Given the description of an element on the screen output the (x, y) to click on. 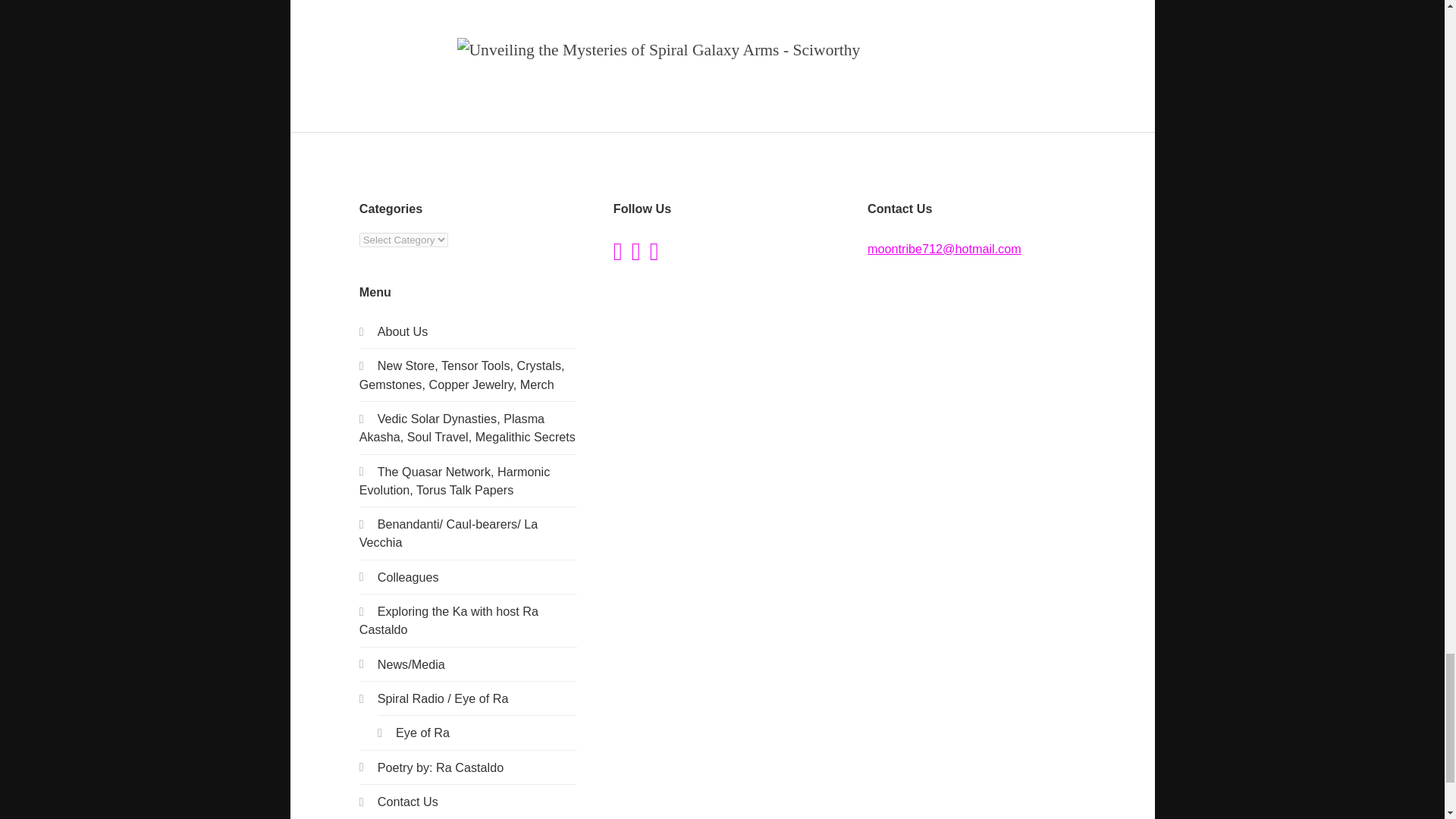
Eye of Ra (422, 732)
The Quasar Network, Harmonic Evolution, Torus Talk Papers (454, 480)
The mystical spiral (402, 331)
New Store, Crystals,Tensor tools, Copper Jewelry !!!! (461, 374)
Exploring the Ka with host Ra Castaldo (448, 620)
Colleagues (408, 576)
About Us (402, 331)
